Given the description of an element on the screen output the (x, y) to click on. 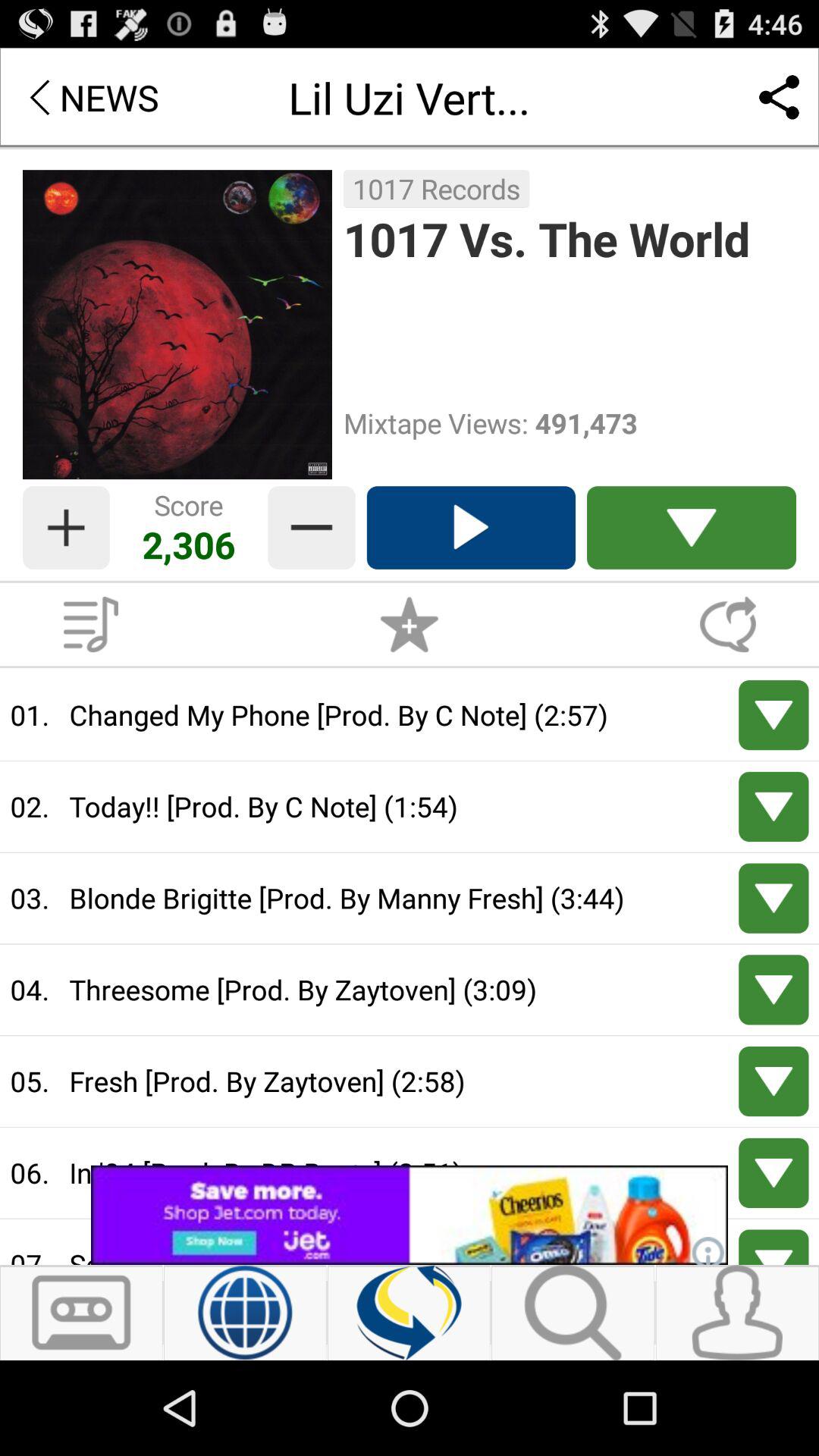
drop down list (691, 527)
